Given the description of an element on the screen output the (x, y) to click on. 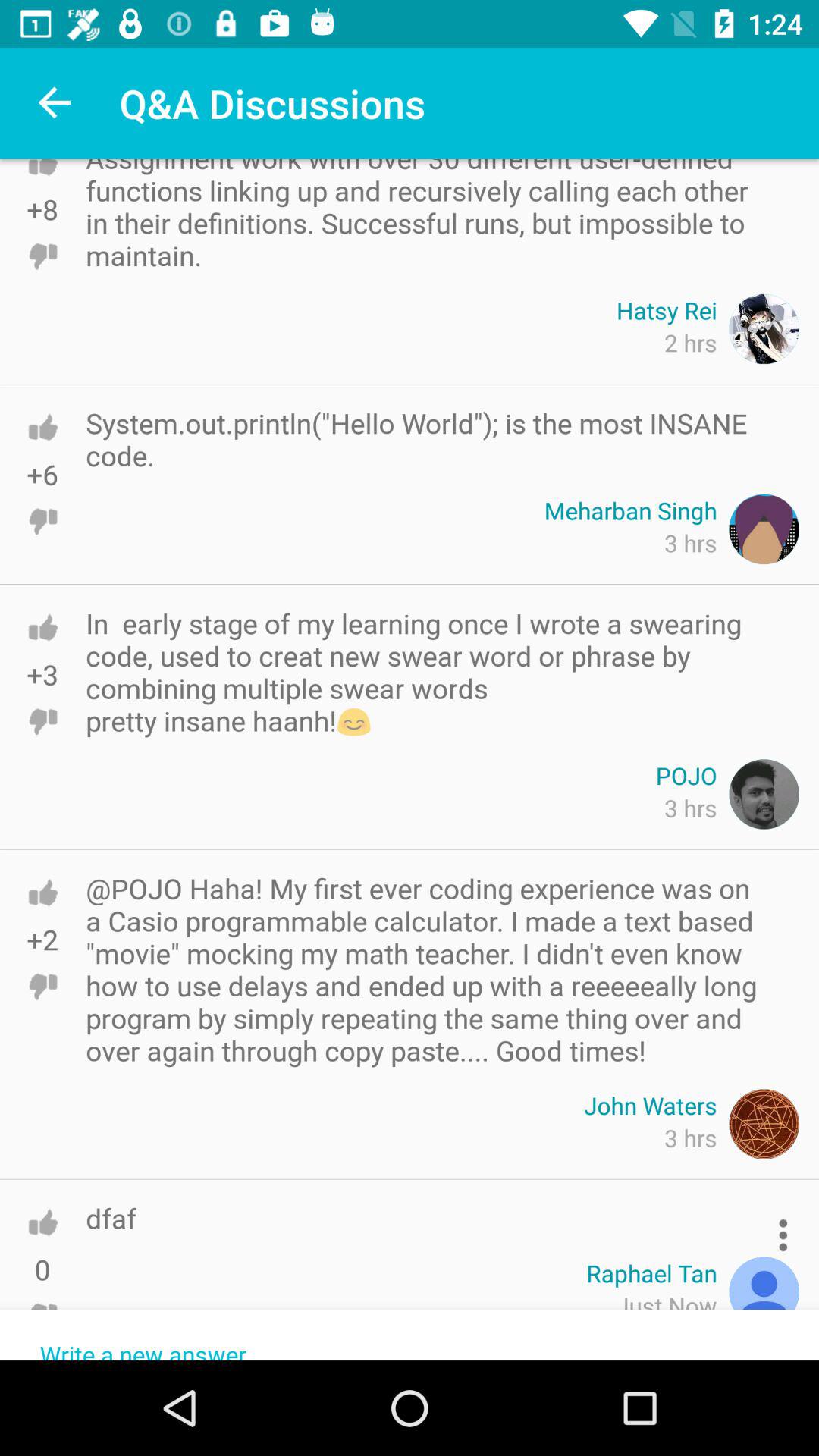
downvote comment (42, 1316)
